Given the description of an element on the screen output the (x, y) to click on. 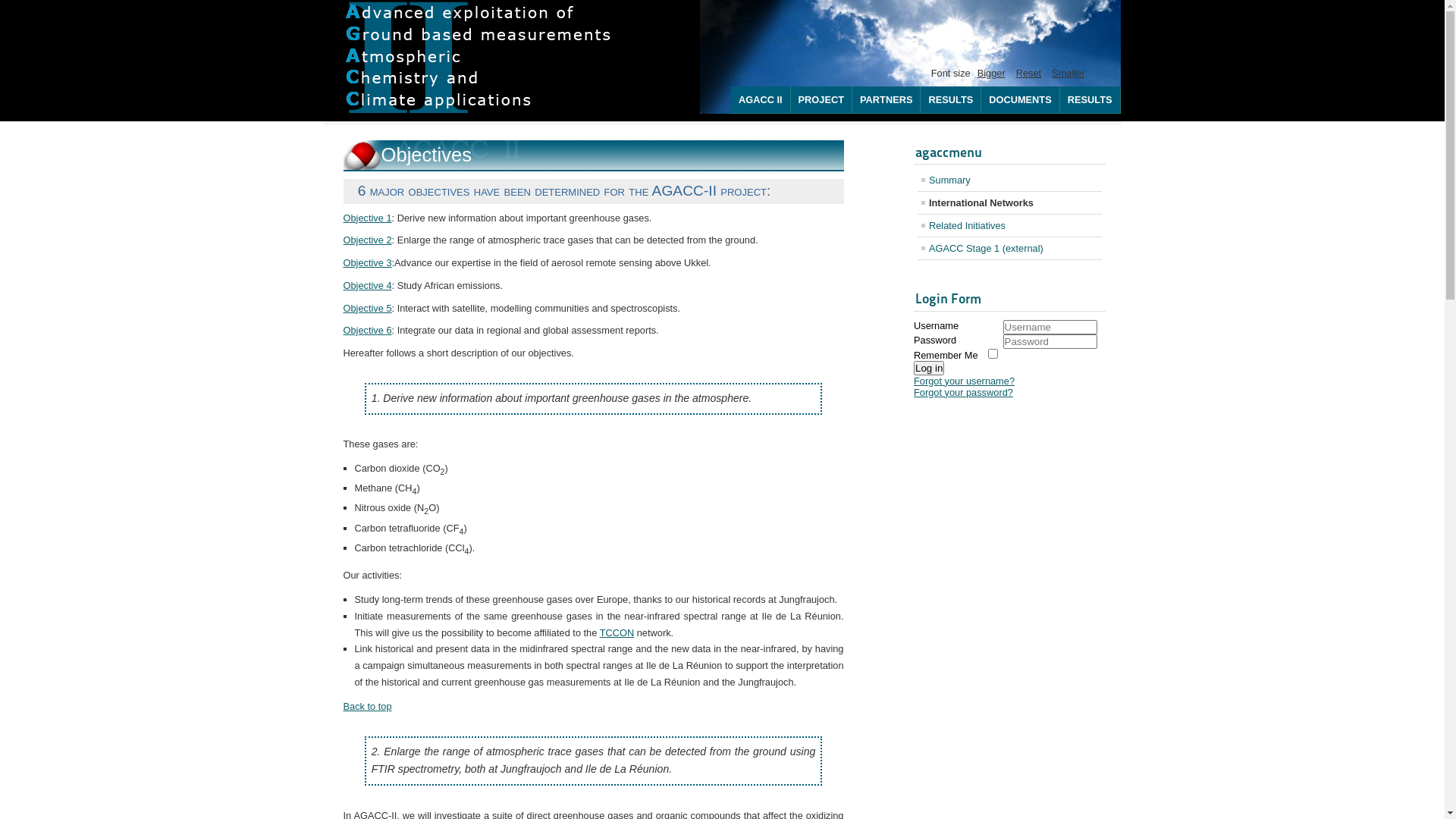
PARTNERS Element type: text (886, 99)
AGACC Stage 1 (external) Element type: text (1009, 248)
Objective 2 Element type: text (366, 239)
TCCON Element type: text (616, 632)
Forgot your username? Element type: text (963, 380)
AGACC II Element type: text (760, 99)
RESULTS Element type: text (950, 99)
Bigger Element type: text (991, 72)
Objective 6 Element type: text (366, 329)
Objective 4 Element type: text (366, 285)
Back to top Element type: text (366, 706)
Related Initiatives Element type: text (1009, 225)
Objective 1 Element type: text (366, 217)
Reset Element type: text (1028, 72)
Objective 3 Element type: text (366, 262)
Forgot your password? Element type: text (963, 392)
PROJECT Element type: text (821, 99)
DOCUMENTS Element type: text (1020, 99)
Objective 5 Element type: text (366, 307)
International Networks Element type: text (1009, 202)
Smaller Element type: text (1068, 72)
Log in Element type: text (928, 367)
RESULTS Element type: text (1090, 99)
Summary Element type: text (1009, 180)
